Given the description of an element on the screen output the (x, y) to click on. 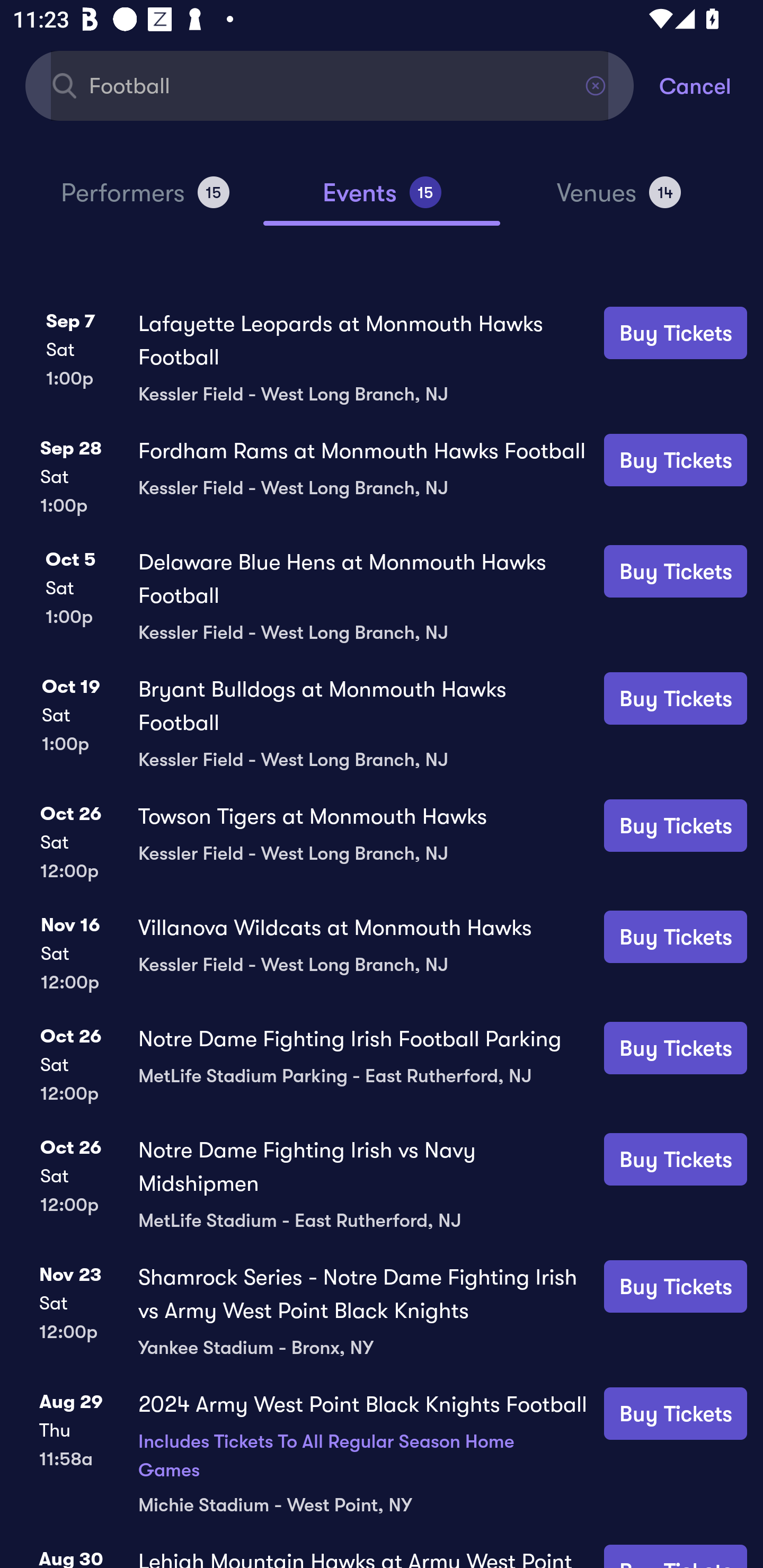
Football Find (329, 85)
Football Find (329, 85)
Cancel (711, 85)
Performers 15 (144, 200)
Events 15 (381, 200)
Venues 14 (618, 200)
